Given the description of an element on the screen output the (x, y) to click on. 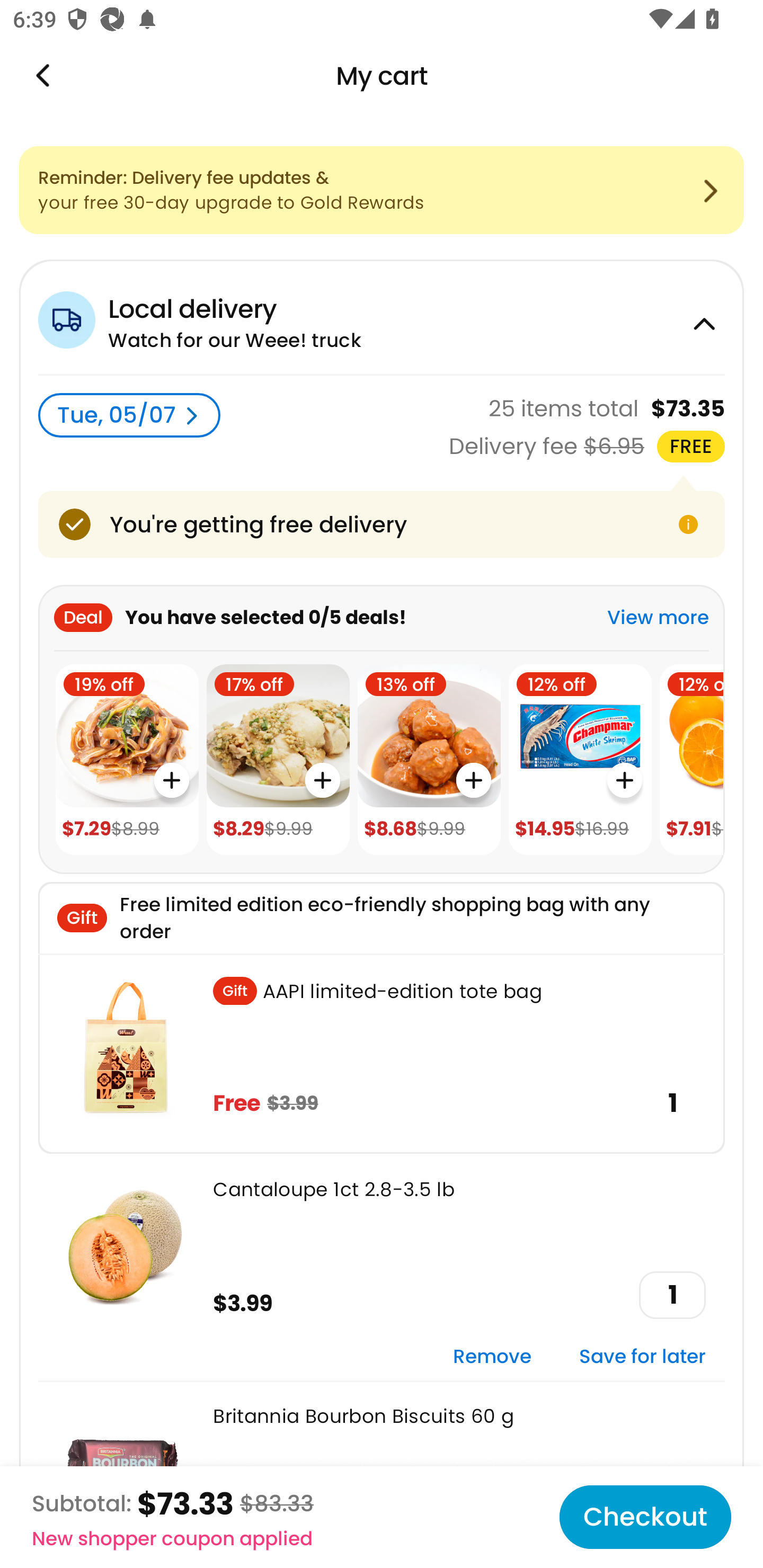
Local delivery Watch for our Weee! truck (381, 317)
Tue, 05/07 (129, 415)
You're getting free delivery (381, 524)
19% off $7.29 $8.99 (126, 759)
17% off $8.29 $9.99 (277, 759)
13% off $8.68 $9.99 (428, 759)
12% off $14.95 $16.99 (579, 759)
. AAPI limited-edition tote bag Free $3.99 1 (381, 1053)
1 (672, 1294)
Remove (491, 1356)
Save for later (642, 1356)
Checkout (644, 1516)
